Given the description of an element on the screen output the (x, y) to click on. 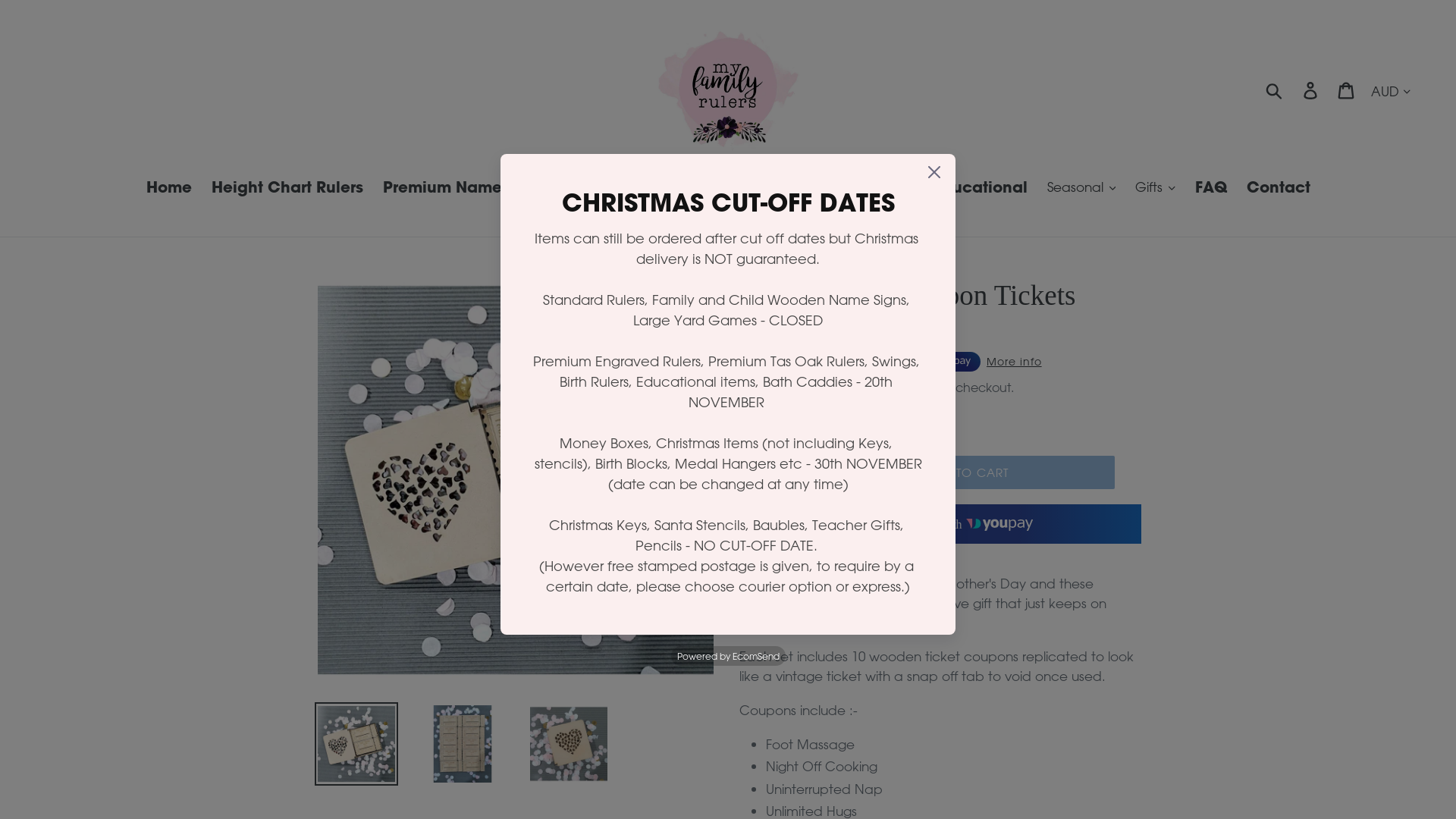
New Born Gifts Element type: text (623, 187)
ADD TO CART Element type: text (966, 472)
Contact Element type: text (1278, 187)
Tree Swings Element type: text (744, 187)
Premium Name Signs Element type: text (464, 187)
Log in Element type: text (1311, 89)
get it paid for you with Element type: text (940, 523)
Height Chart Rulers Element type: text (286, 187)
Submit Element type: text (1274, 89)
Have someone else pay with
More info Element type: text (890, 361)
FAQ Element type: text (1210, 187)
Cart Element type: text (1347, 89)
Money Boxes Element type: text (861, 187)
Educational Element type: text (979, 187)
Shipping Element type: text (844, 387)
Home Element type: text (168, 187)
